Given the description of an element on the screen output the (x, y) to click on. 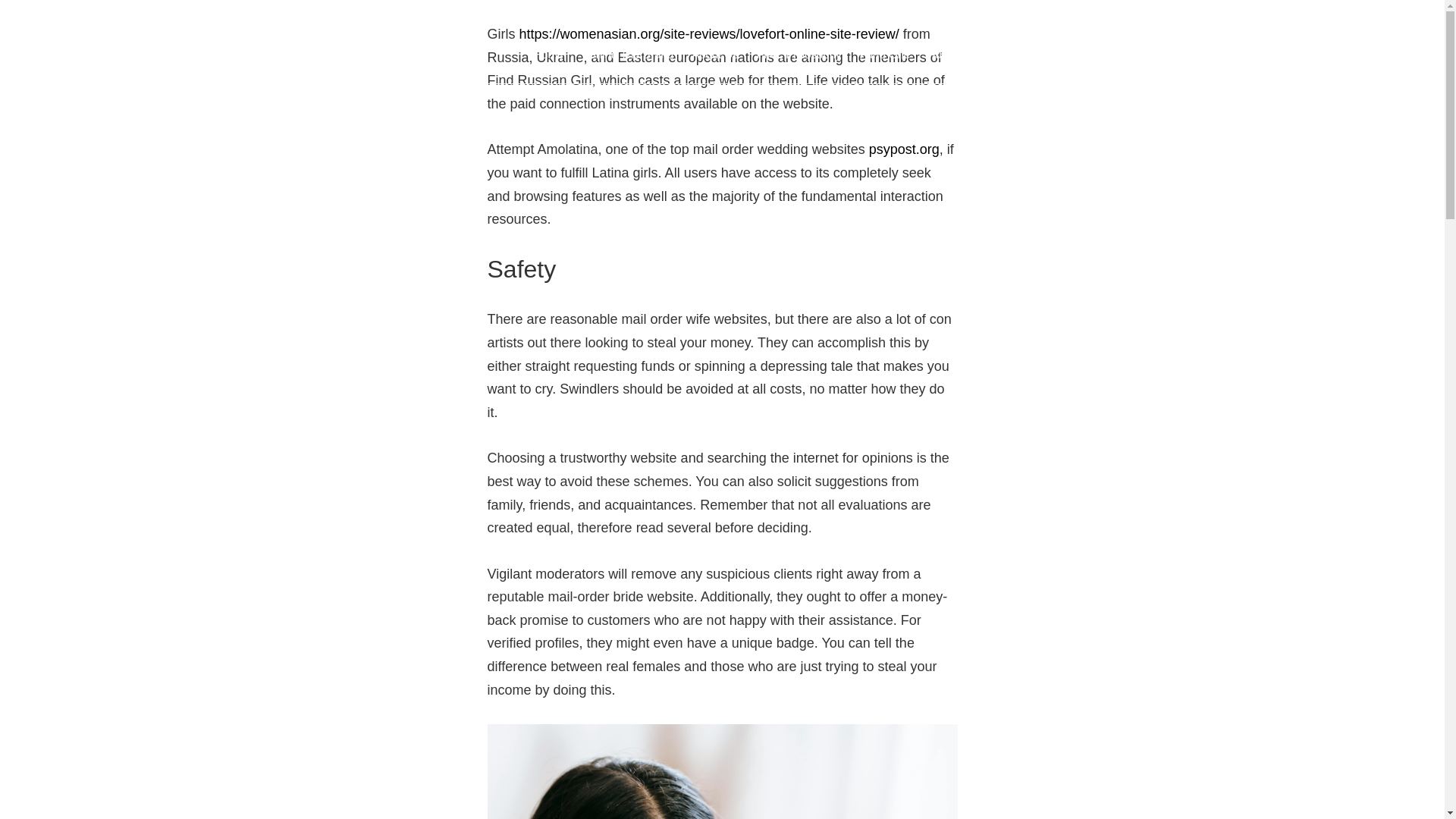
Fund Two (952, 54)
Home (548, 54)
FIRE Philosophy (799, 54)
About Us (715, 54)
Behind The Brand (627, 54)
psypost.org (904, 149)
Fund One (885, 54)
